Given the description of an element on the screen output the (x, y) to click on. 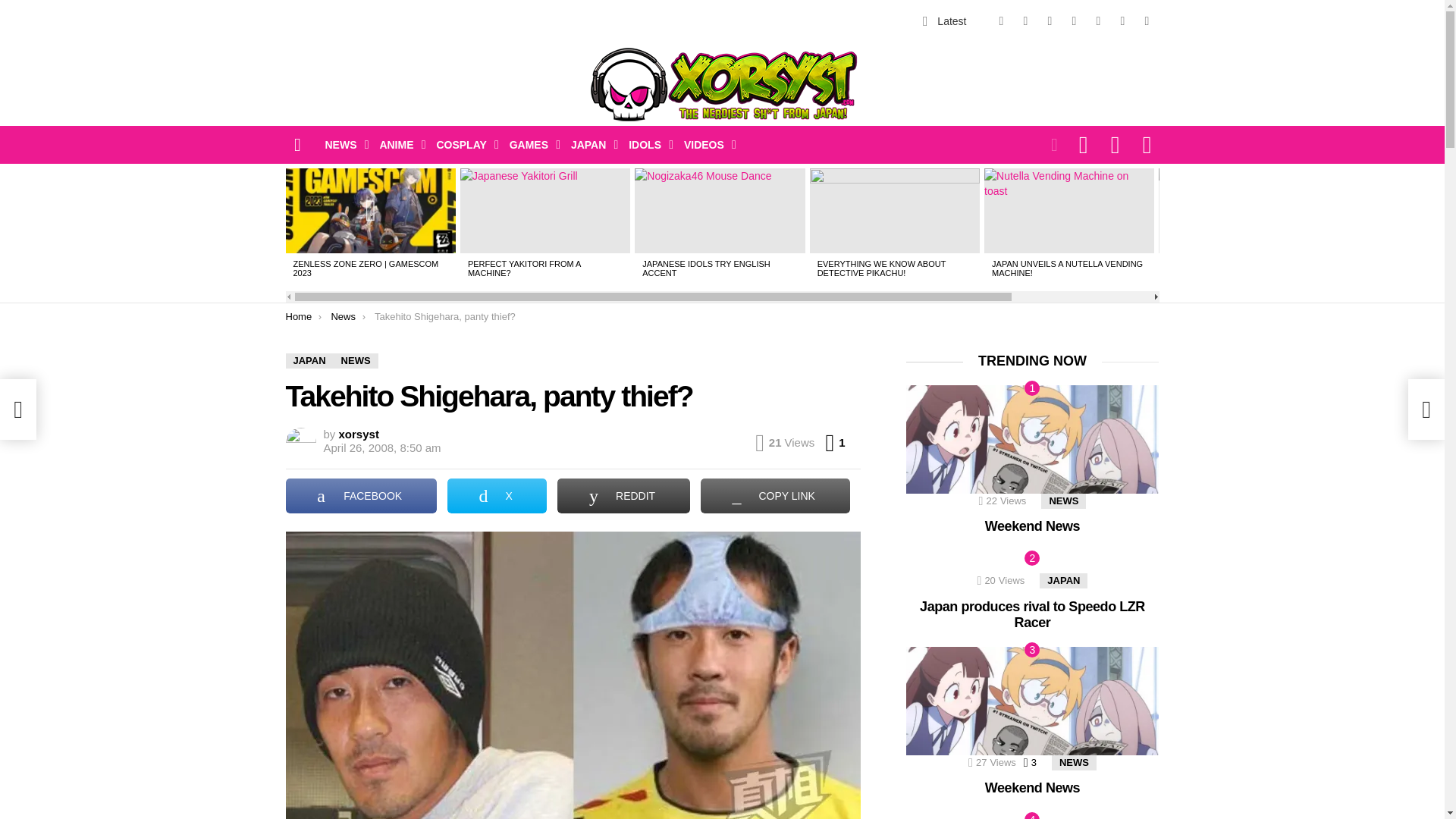
Menu (296, 144)
tiktok (1097, 20)
GAMES (531, 144)
X (1024, 20)
YouTube (1146, 20)
Latest (944, 20)
COSPLAY (462, 144)
Facebook (1000, 20)
Discord (1048, 20)
Instagram (1073, 20)
ANIME (398, 144)
NEWS (342, 144)
Twitch (1121, 20)
